Given the description of an element on the screen output the (x, y) to click on. 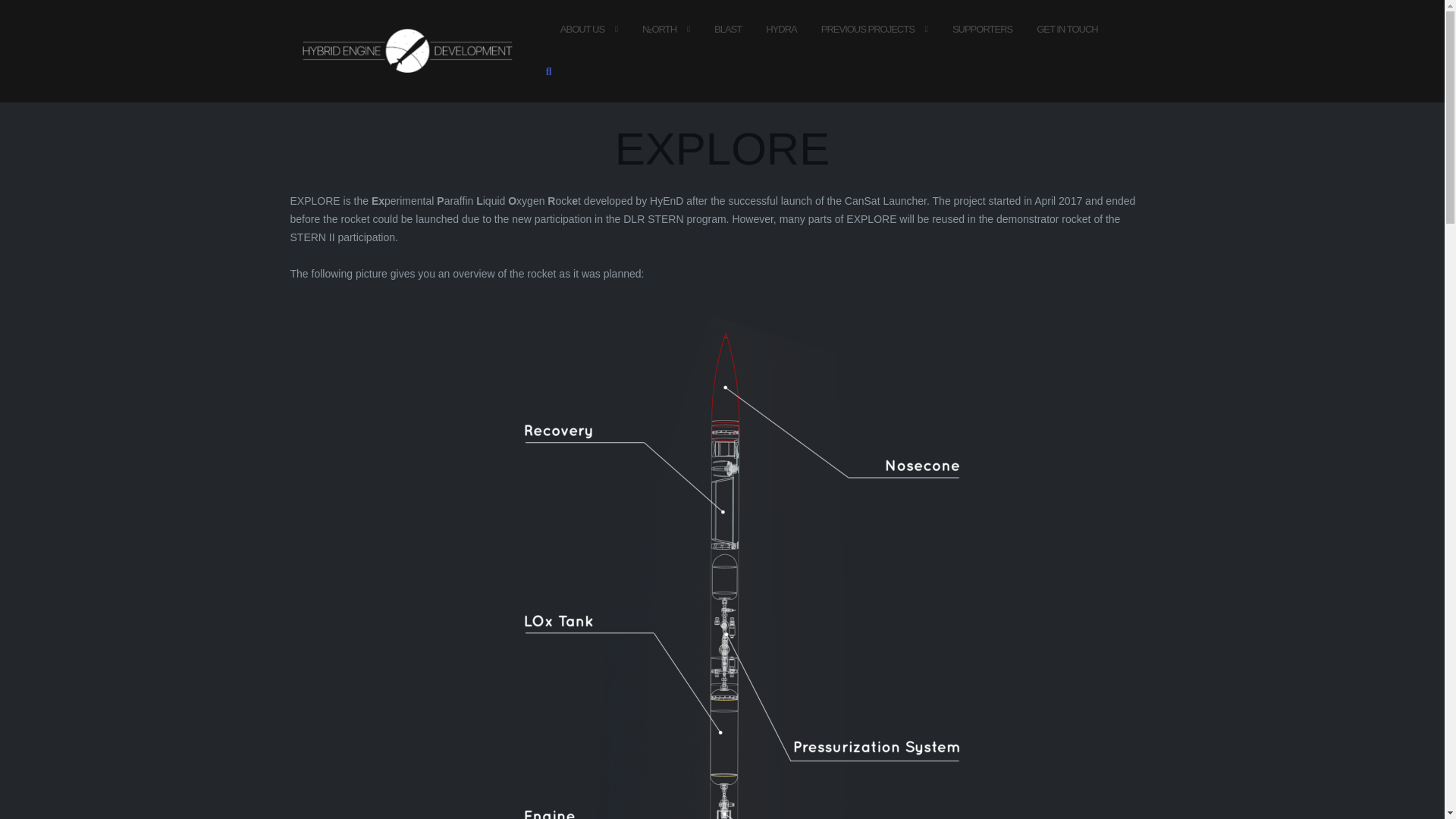
GET IN TOUCH (1066, 29)
About us (582, 29)
SUPPORTERS (981, 29)
Previous Projects (867, 29)
ABOUT US (582, 29)
PREVIOUS PROJECTS (867, 29)
